Given the description of an element on the screen output the (x, y) to click on. 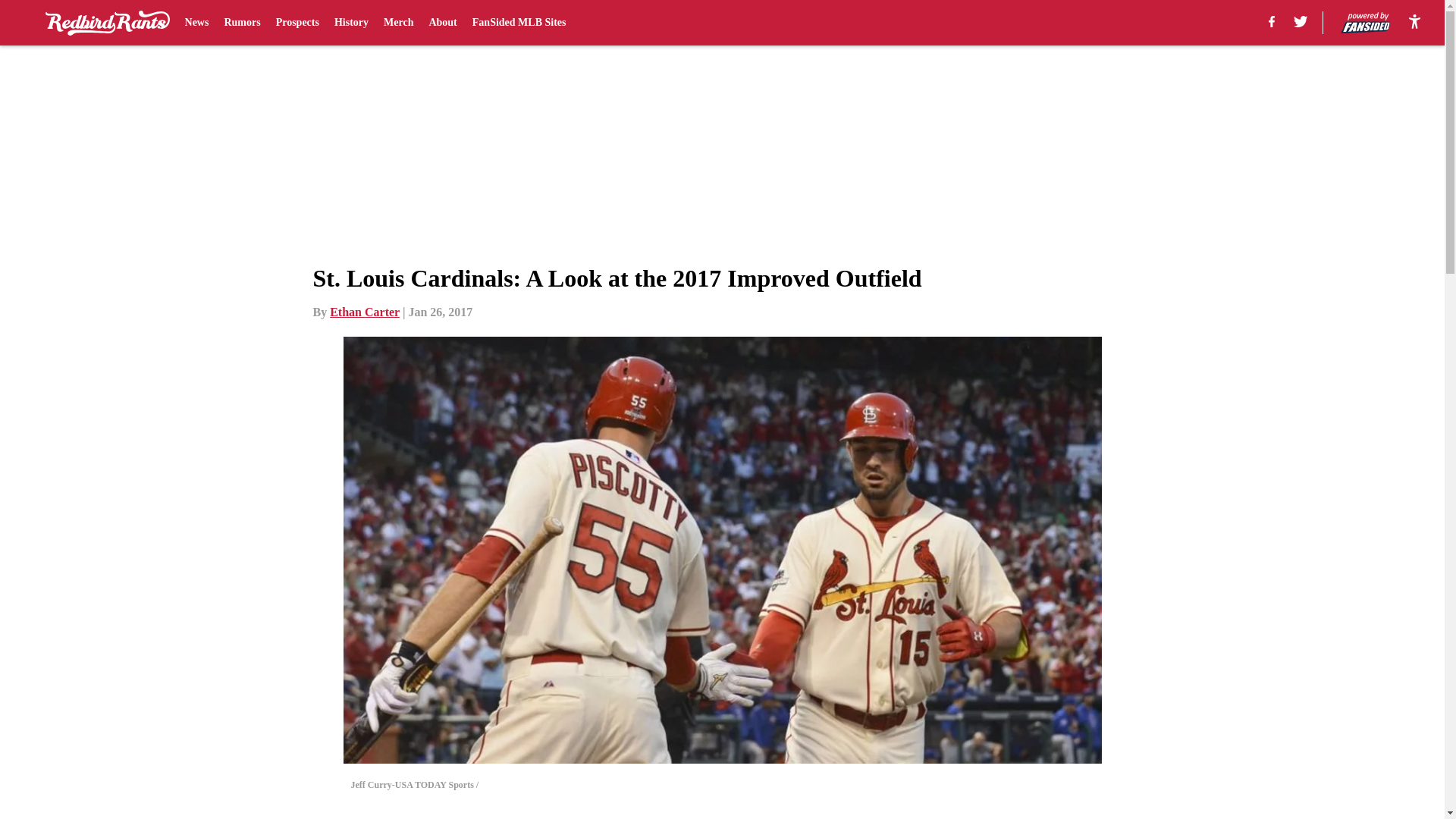
Merch (398, 22)
News (196, 22)
FanSided MLB Sites (518, 22)
Rumors (242, 22)
History (351, 22)
Prospects (297, 22)
About (442, 22)
Ethan Carter (364, 311)
